Given the description of an element on the screen output the (x, y) to click on. 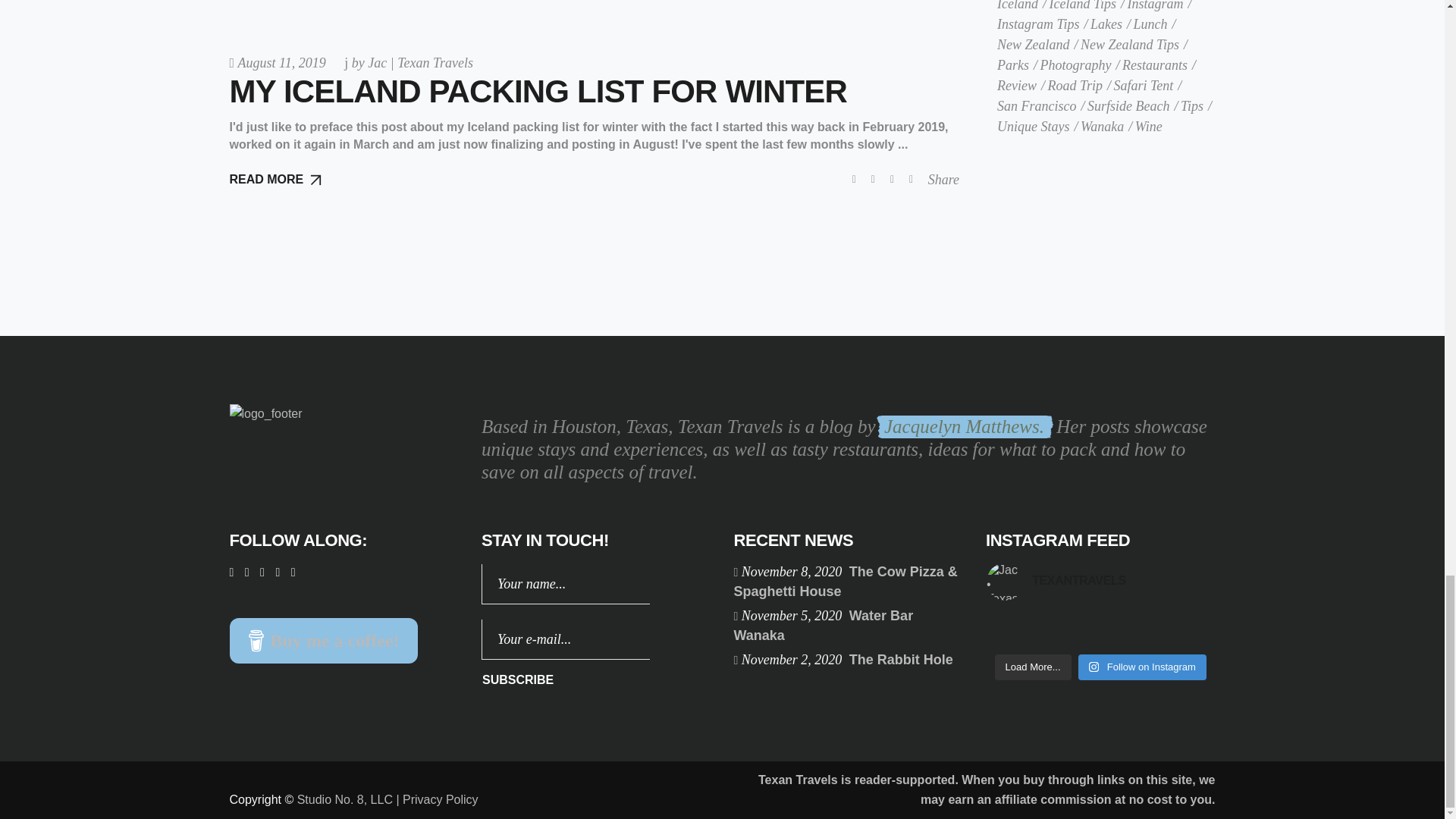
My Iceland Packing List for Winter (537, 90)
My Iceland Packing List for Winter (593, 72)
The Rabbit Hole (900, 659)
Water Bar Wanaka (823, 625)
